Given the description of an element on the screen output the (x, y) to click on. 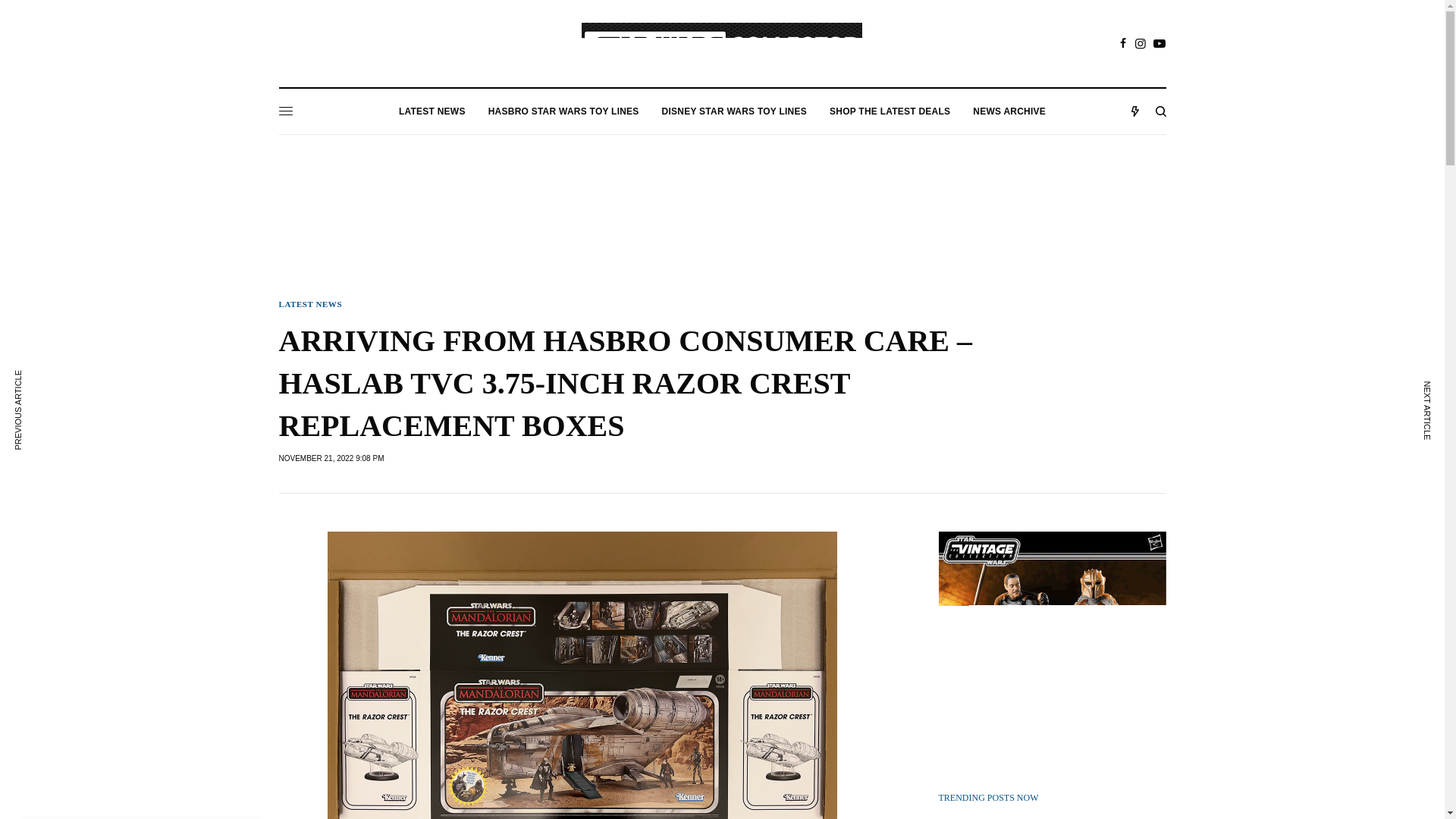
SHOP THE LATEST DEALS (889, 111)
Star Wars Collector (720, 43)
DISNEY STAR WARS TOY LINES (734, 111)
NEWS ARCHIVE (1008, 111)
LATEST NEWS (431, 111)
HASBRO STAR WARS TOY LINES (563, 111)
